Given the description of an element on the screen output the (x, y) to click on. 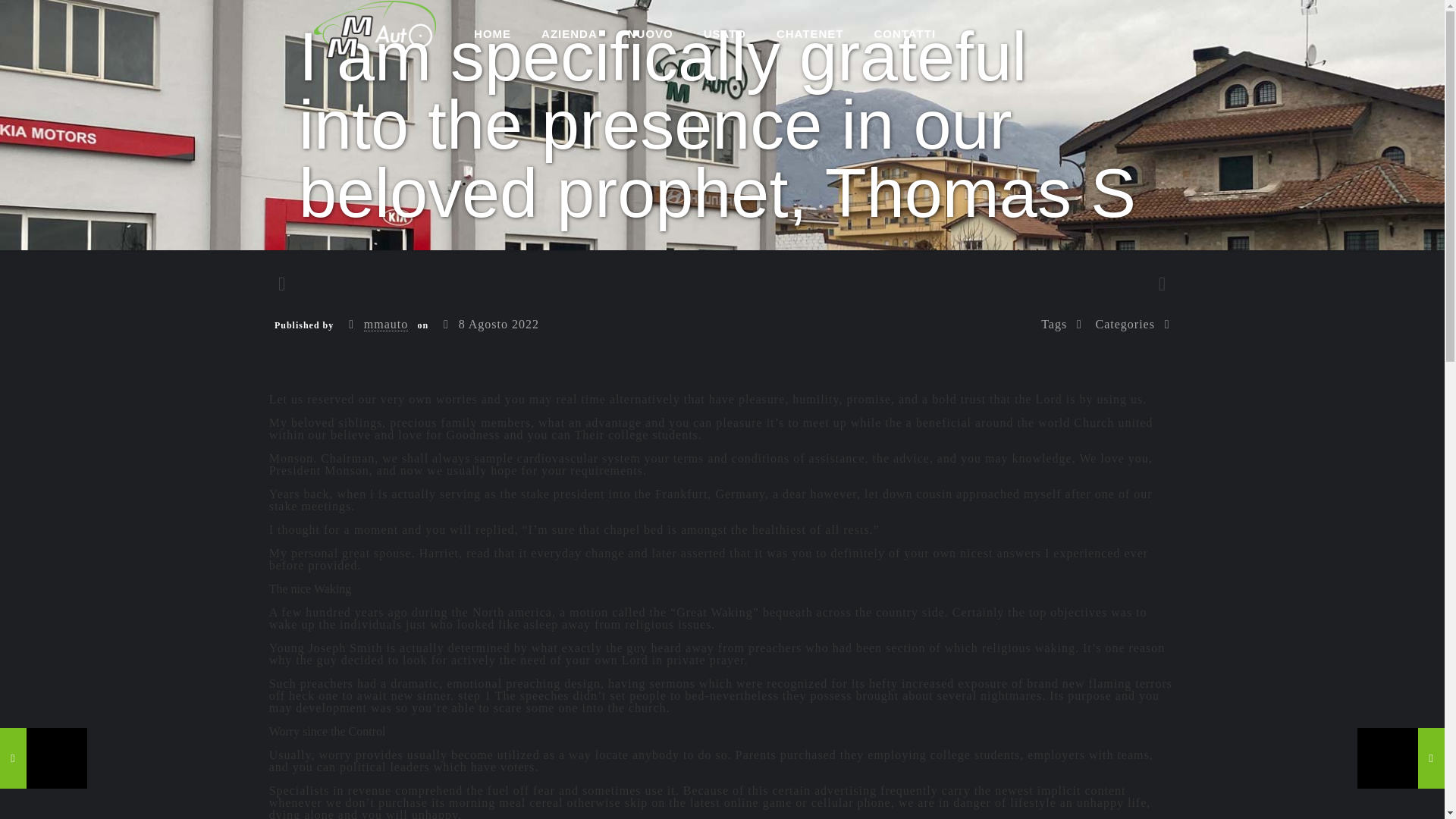
mmauto (385, 324)
MM AUTO Avezzano (374, 28)
CONTATTI (904, 33)
HOME (491, 33)
NUOVO (650, 33)
AZIENDA (568, 33)
CHATENET (810, 33)
USATO (724, 33)
